Given the description of an element on the screen output the (x, y) to click on. 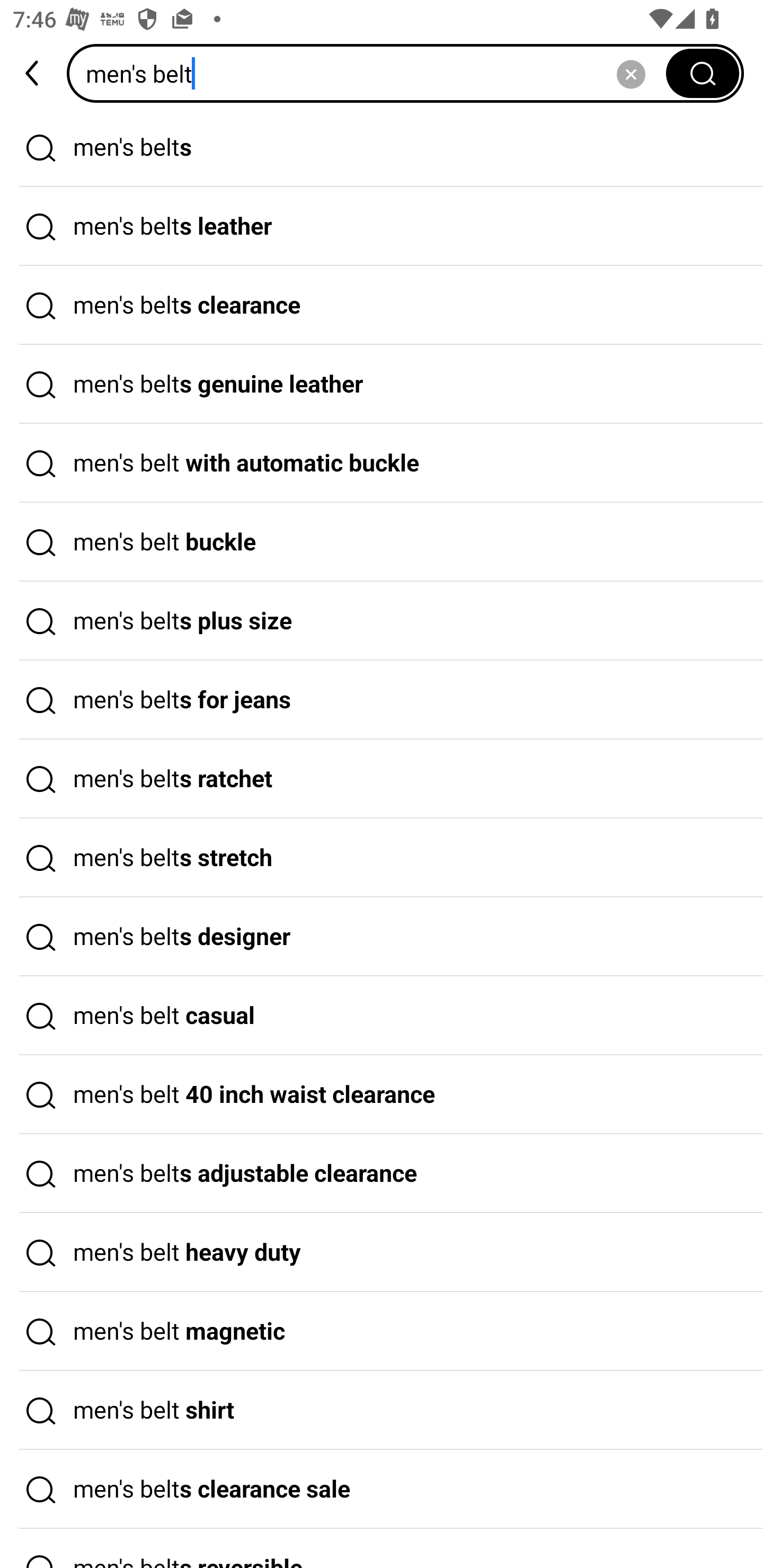
back (33, 72)
men's belt (372, 73)
Delete search history (630, 73)
men's belts (381, 147)
men's belts leather (381, 226)
men's belts clearance (381, 305)
men's belts genuine leather (381, 383)
men's belt with automatic buckle (381, 463)
men's belt buckle (381, 542)
men's belts plus size (381, 620)
men's belts for jeans (381, 700)
men's belts ratchet (381, 779)
men's belts stretch (381, 857)
men's belts designer (381, 936)
men's belt casual (381, 1015)
men's belt 40 inch waist clearance (381, 1094)
men's belts adjustable clearance (381, 1173)
men's belt heavy duty (381, 1252)
men's belt magnetic (381, 1331)
men's belt shirt (381, 1410)
men's belts clearance sale (381, 1489)
